Given the description of an element on the screen output the (x, y) to click on. 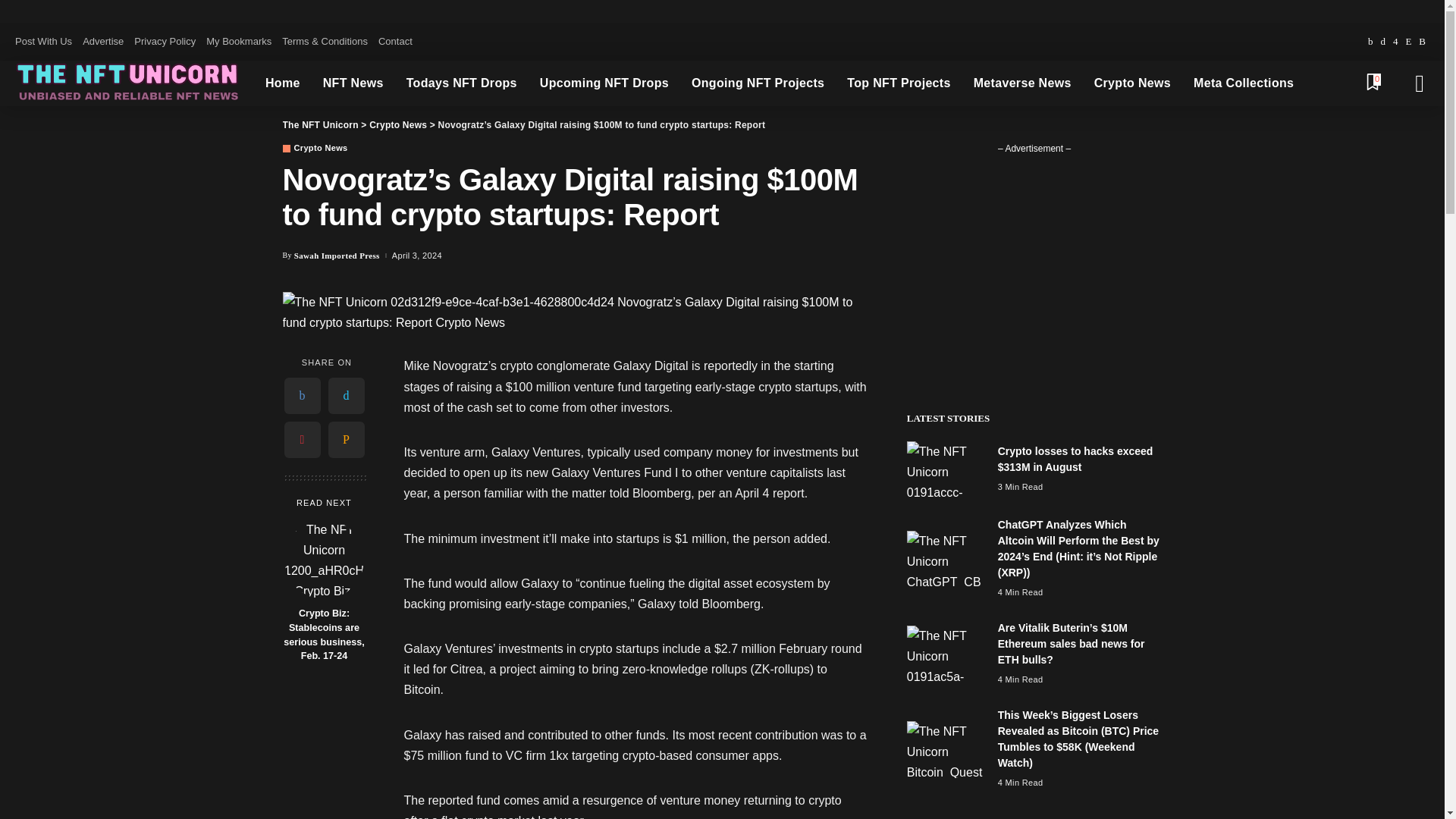
Todays NFT Drops (461, 83)
My Bookmarks (238, 42)
Advertise (103, 42)
Privacy Policy (164, 42)
Upcoming NFT Drops (603, 83)
Post With Us (45, 42)
Contact (394, 42)
NFT News (352, 83)
Home (282, 83)
